Given the description of an element on the screen output the (x, y) to click on. 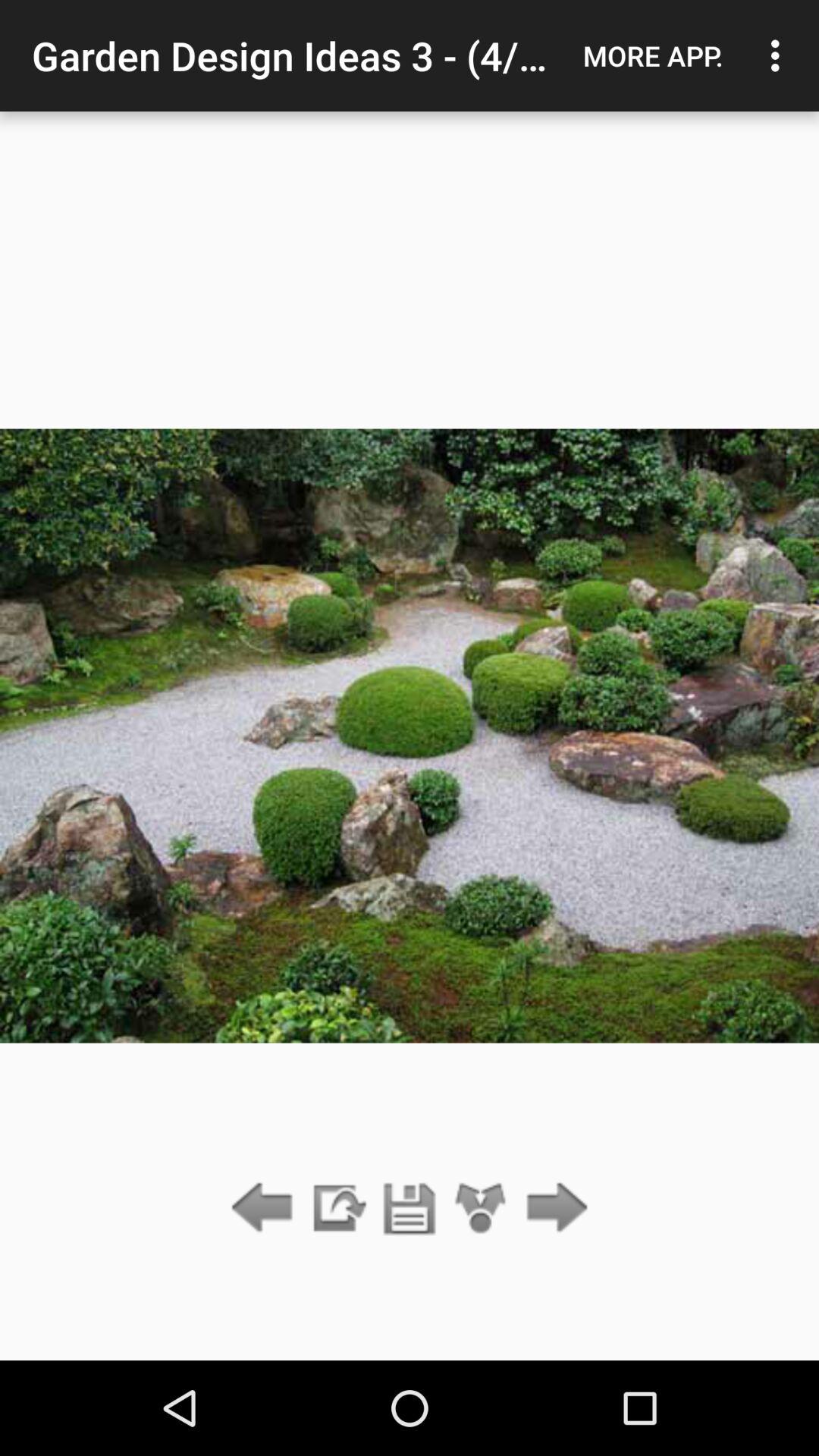
show the next item (552, 1209)
